Given the description of an element on the screen output the (x, y) to click on. 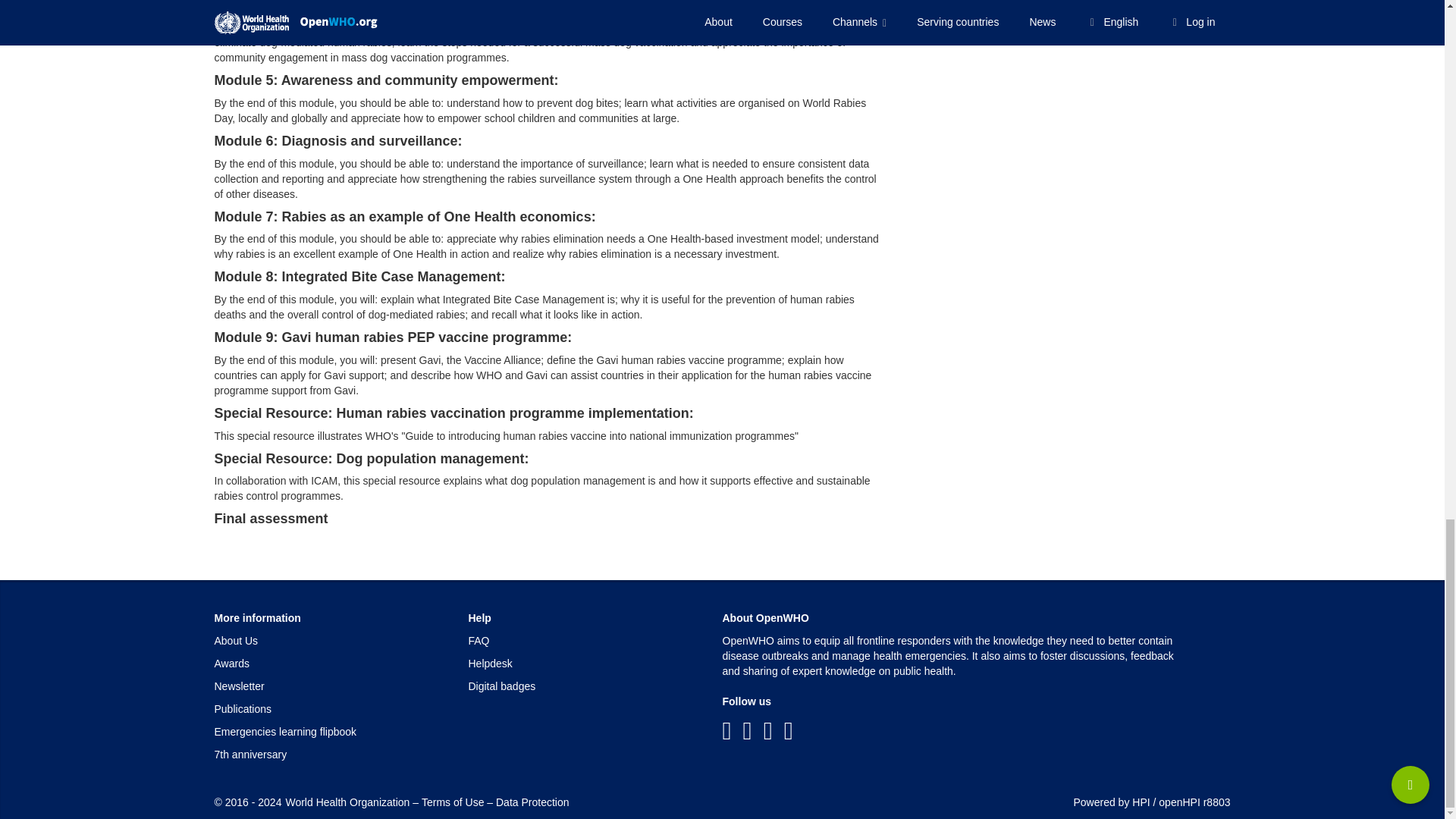
Data Protection (532, 802)
7th anniversary (250, 754)
Emergencies learning flipbook (285, 731)
FAQ (478, 640)
Digital badges (501, 686)
HPI (1141, 802)
Helpdesk (490, 663)
About Us (235, 640)
Awards (231, 663)
Terms of Use (452, 802)
